Given the description of an element on the screen output the (x, y) to click on. 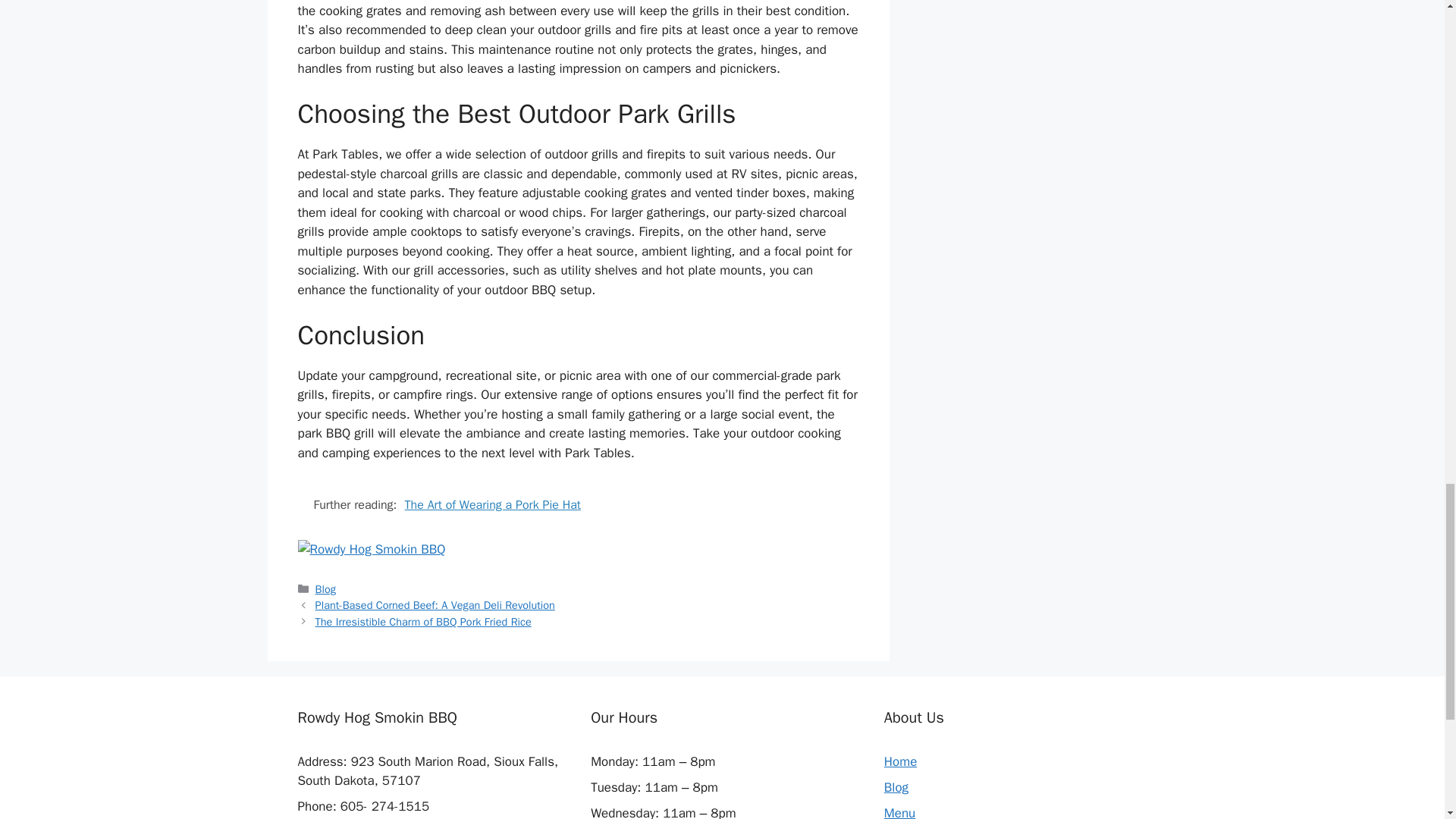
Further reading:  The Art of Wearing a Pork Pie Hat (578, 504)
Home (900, 761)
The Irresistible Charm of BBQ Pork Fried Rice (423, 621)
Menu (899, 812)
Plant-Based Corned Beef: A Vegan Deli Revolution (434, 604)
Blog (325, 589)
Blog (895, 787)
